Given the description of an element on the screen output the (x, y) to click on. 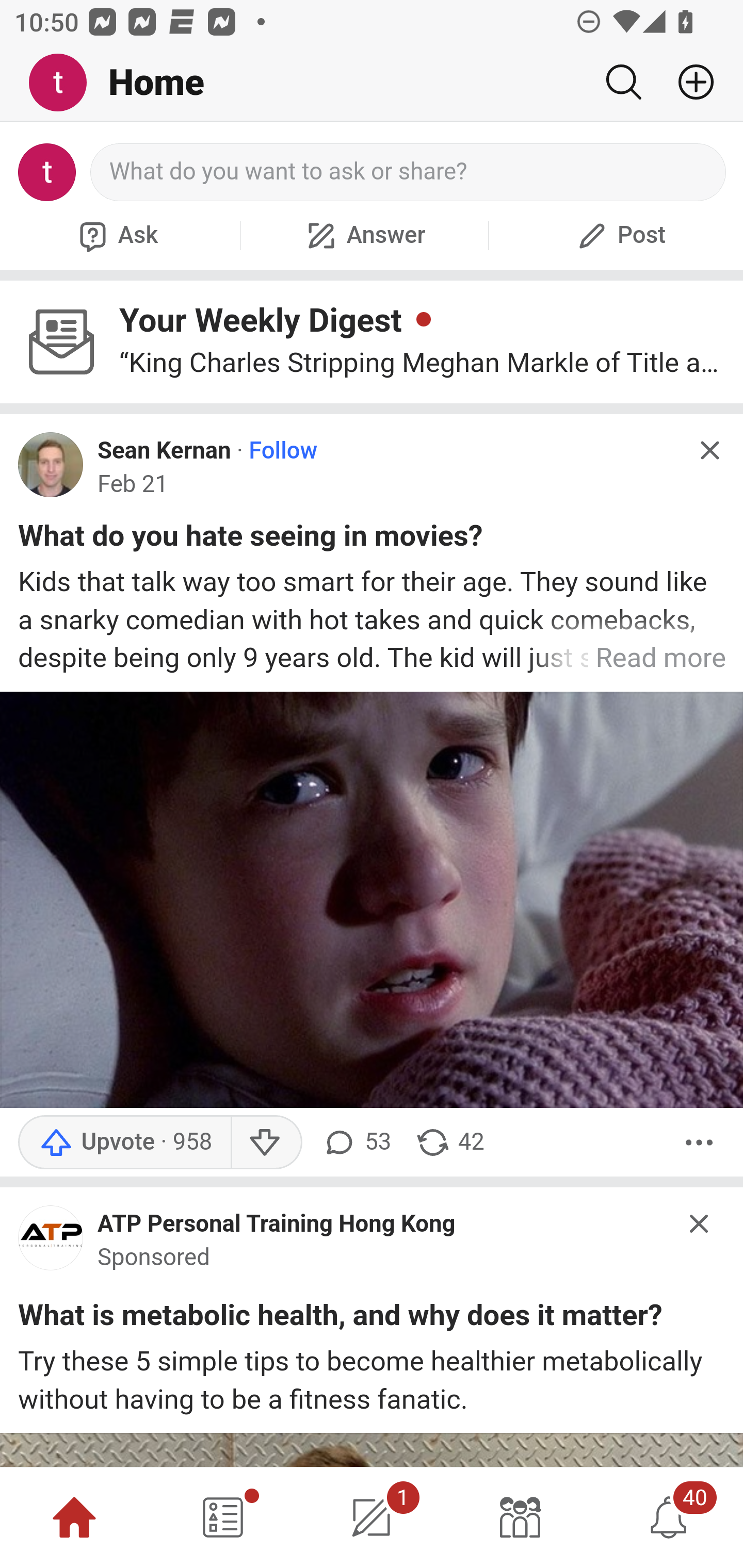
Me (64, 83)
Search (623, 82)
Add (688, 82)
What do you want to ask or share? (408, 172)
Ask (116, 234)
Answer (364, 234)
Post (618, 234)
Hide (709, 449)
Profile photo for Sean Kernan (50, 465)
Sean Kernan (164, 451)
Follow (283, 451)
Upvote (124, 1141)
Downvote (266, 1141)
53 comments (356, 1141)
42 shares (448, 1141)
More (699, 1141)
Hide (699, 1223)
main-qimg-1f396d5a5e054ddd9a425d683de3a2f9 (50, 1242)
ATP Personal Training Hong Kong (276, 1222)
What is metabolic health, and why does it matter? (339, 1318)
1 (371, 1517)
40 (668, 1517)
